Given the description of an element on the screen output the (x, y) to click on. 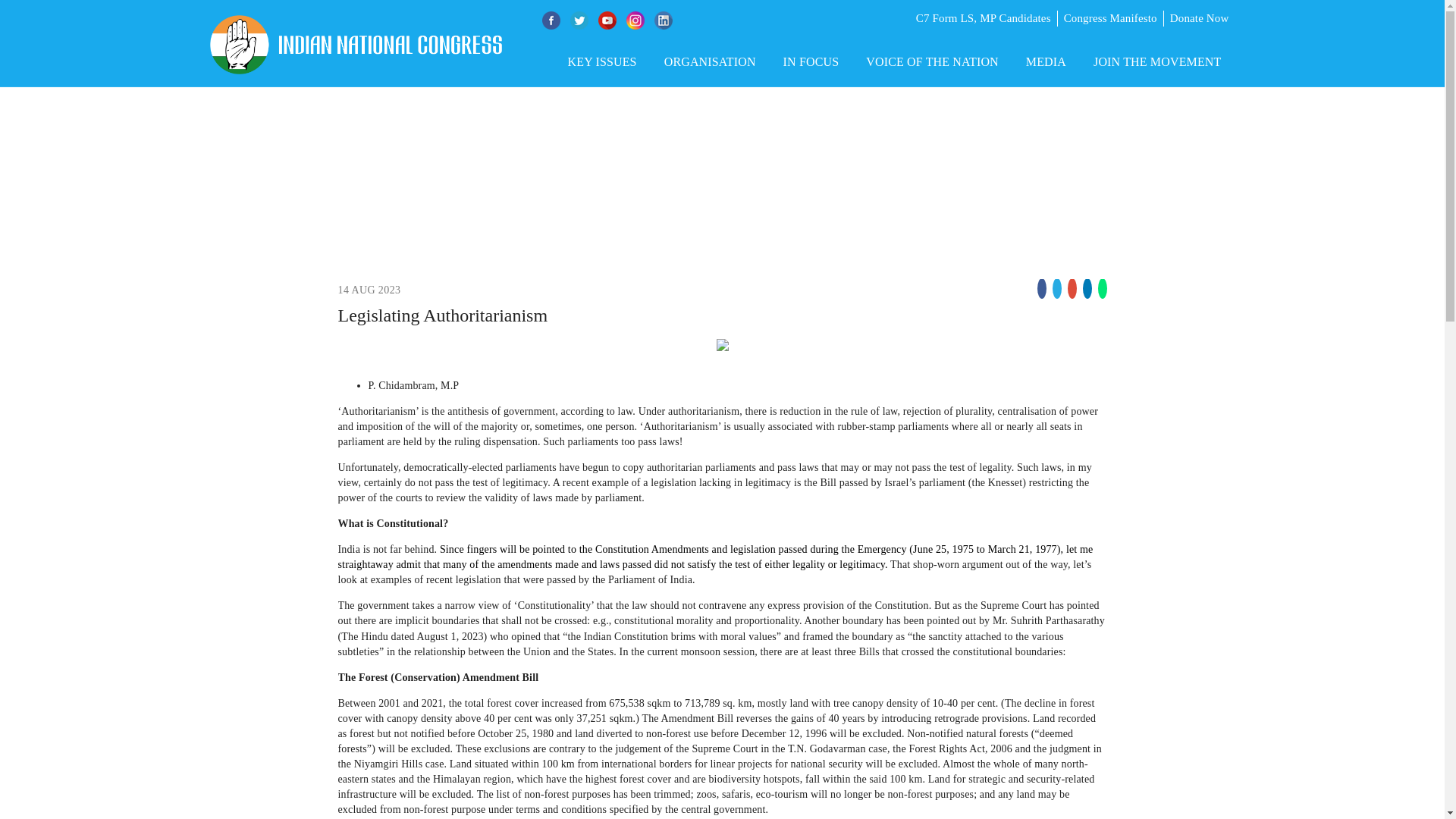
MEDIA (1045, 61)
C7 Form LS, MP Candidates (983, 18)
IN FOCUS (811, 61)
Congress Manifesto (1110, 18)
Home (220, 149)
JOIN THE MOVEMENT (1157, 61)
VOICE OF THE NATION (932, 61)
Congress Sandesh (370, 149)
KEY ISSUES (602, 61)
Donate Now (1199, 18)
